Given the description of an element on the screen output the (x, y) to click on. 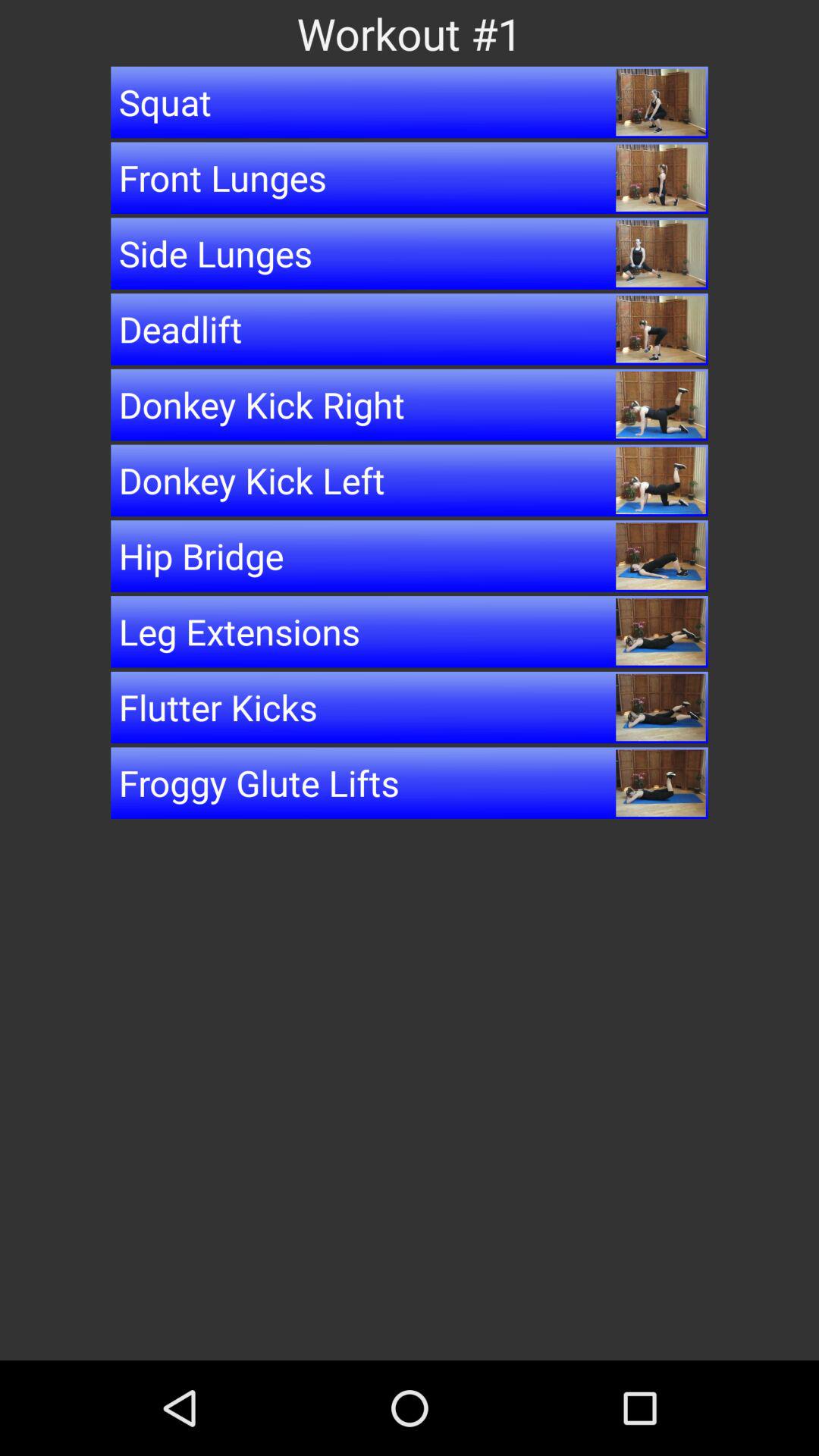
launch leg extensions button (409, 631)
